Given the description of an element on the screen output the (x, y) to click on. 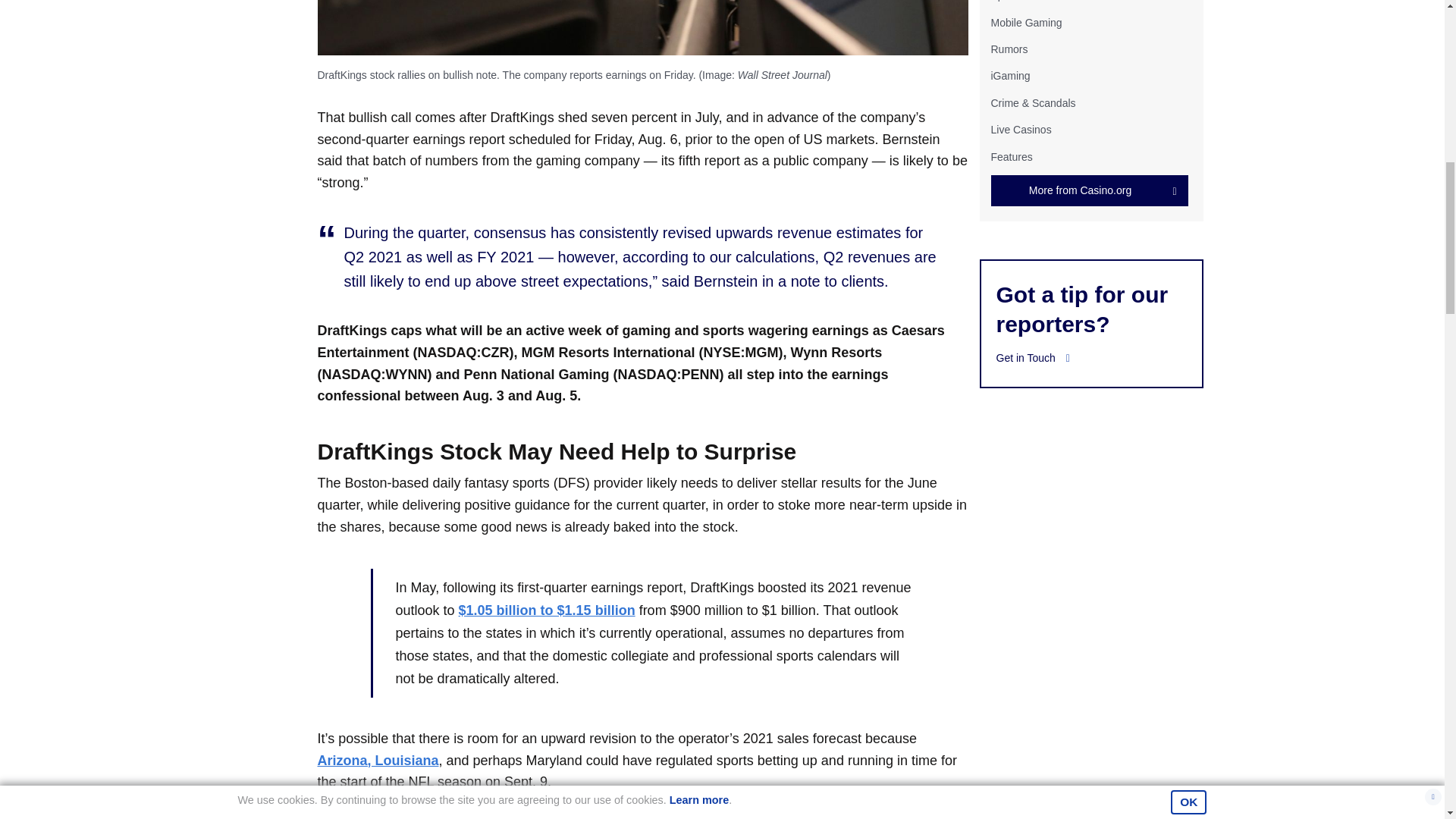
Rumors (1008, 49)
Features (1011, 155)
Mobile Gaming (1025, 22)
Live Casinos (1020, 129)
iGaming (1009, 75)
Sports (1005, 0)
Arizona, Louisiana (377, 759)
